Given the description of an element on the screen output the (x, y) to click on. 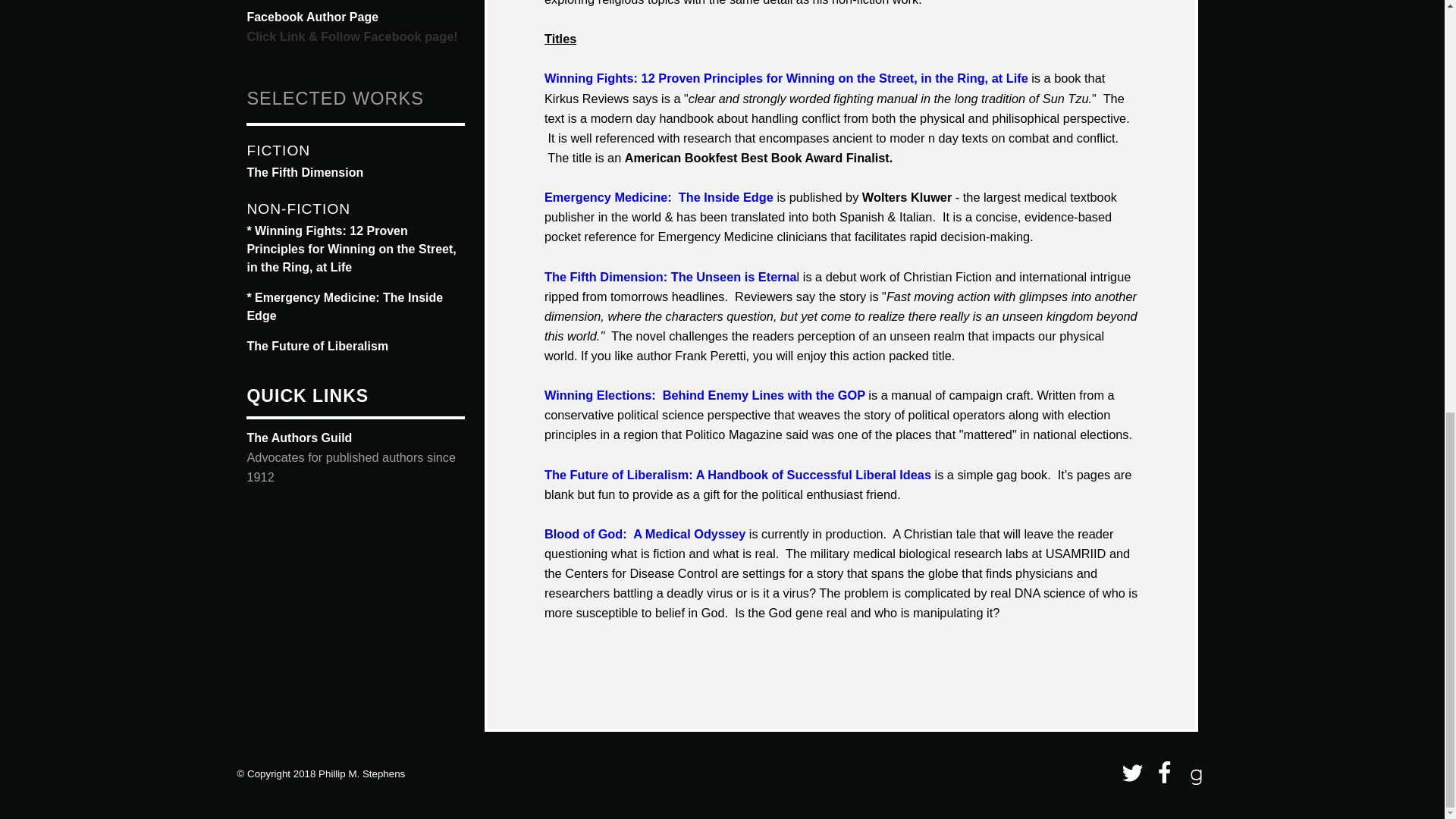
The Future of Liberalism (317, 345)
The Fifth Dimension (304, 172)
The Authors Guild (299, 437)
Facebook Author Page (312, 16)
